Given the description of an element on the screen output the (x, y) to click on. 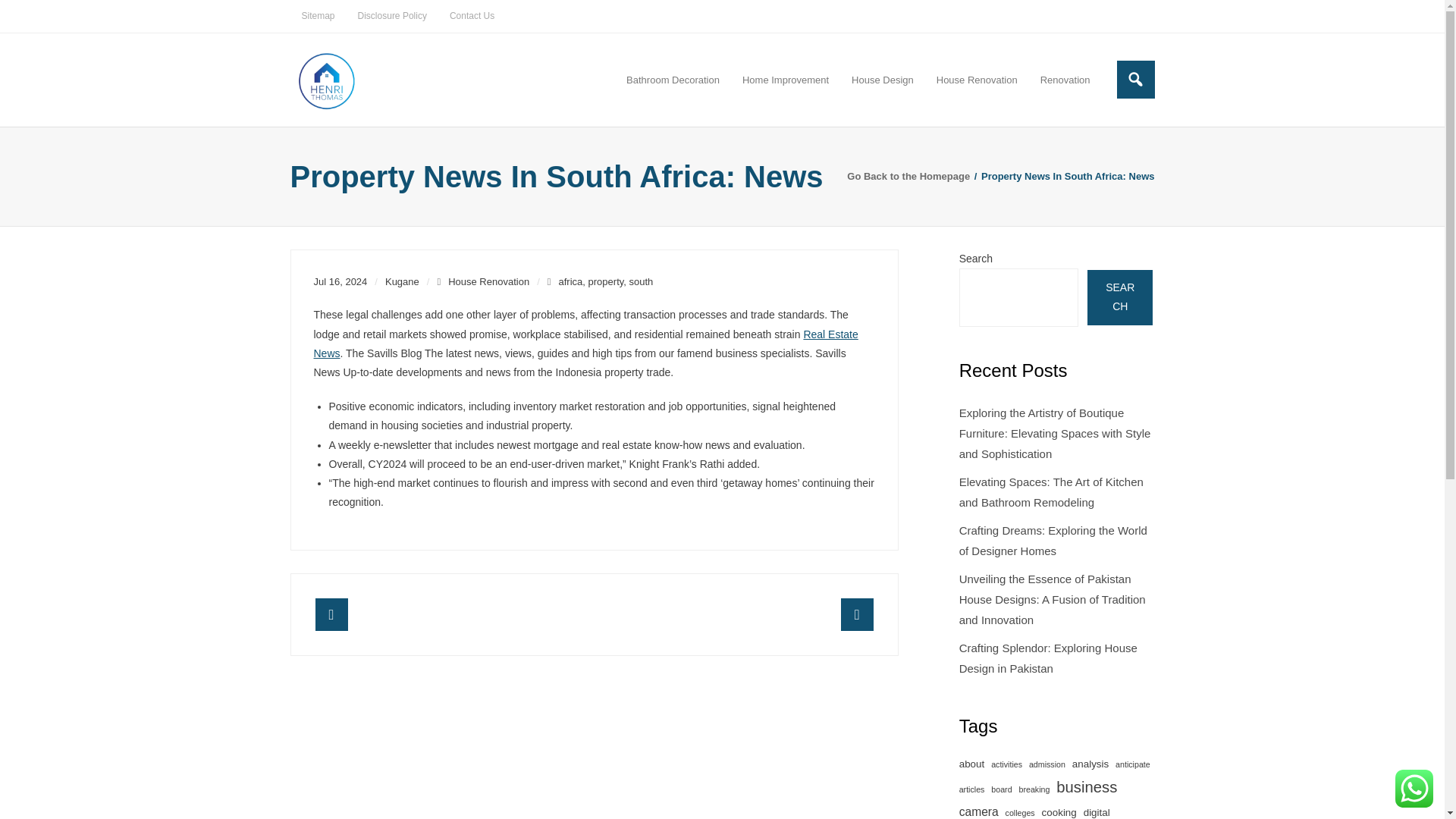
House Renovation (976, 79)
Jul 16, 2024 (341, 281)
View all posts by Kugane (402, 281)
Real Estate News (586, 343)
SEARCH (1120, 296)
property (606, 281)
south (640, 281)
Disclosure Policy (392, 16)
House Design (882, 79)
analysis (1089, 764)
